Given the description of an element on the screen output the (x, y) to click on. 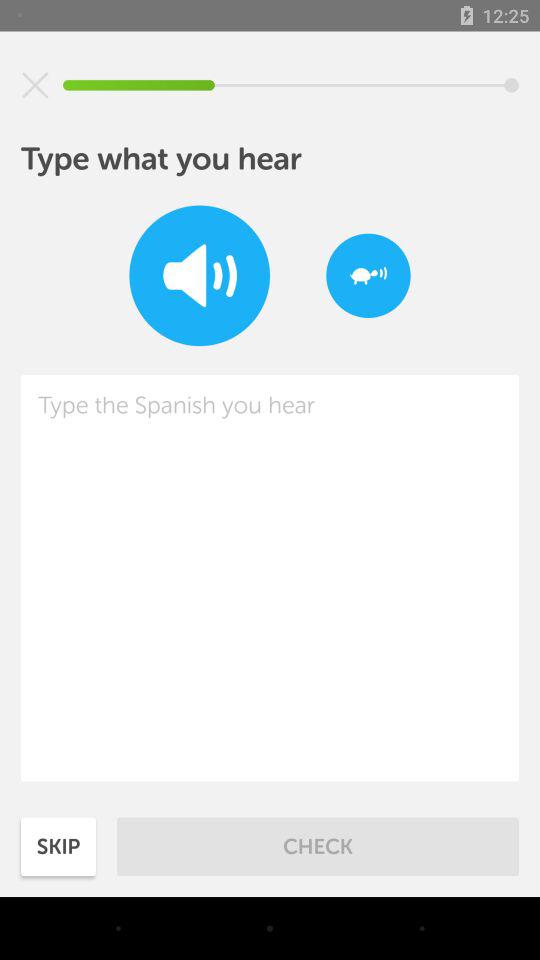
stop loading (35, 85)
